Given the description of an element on the screen output the (x, y) to click on. 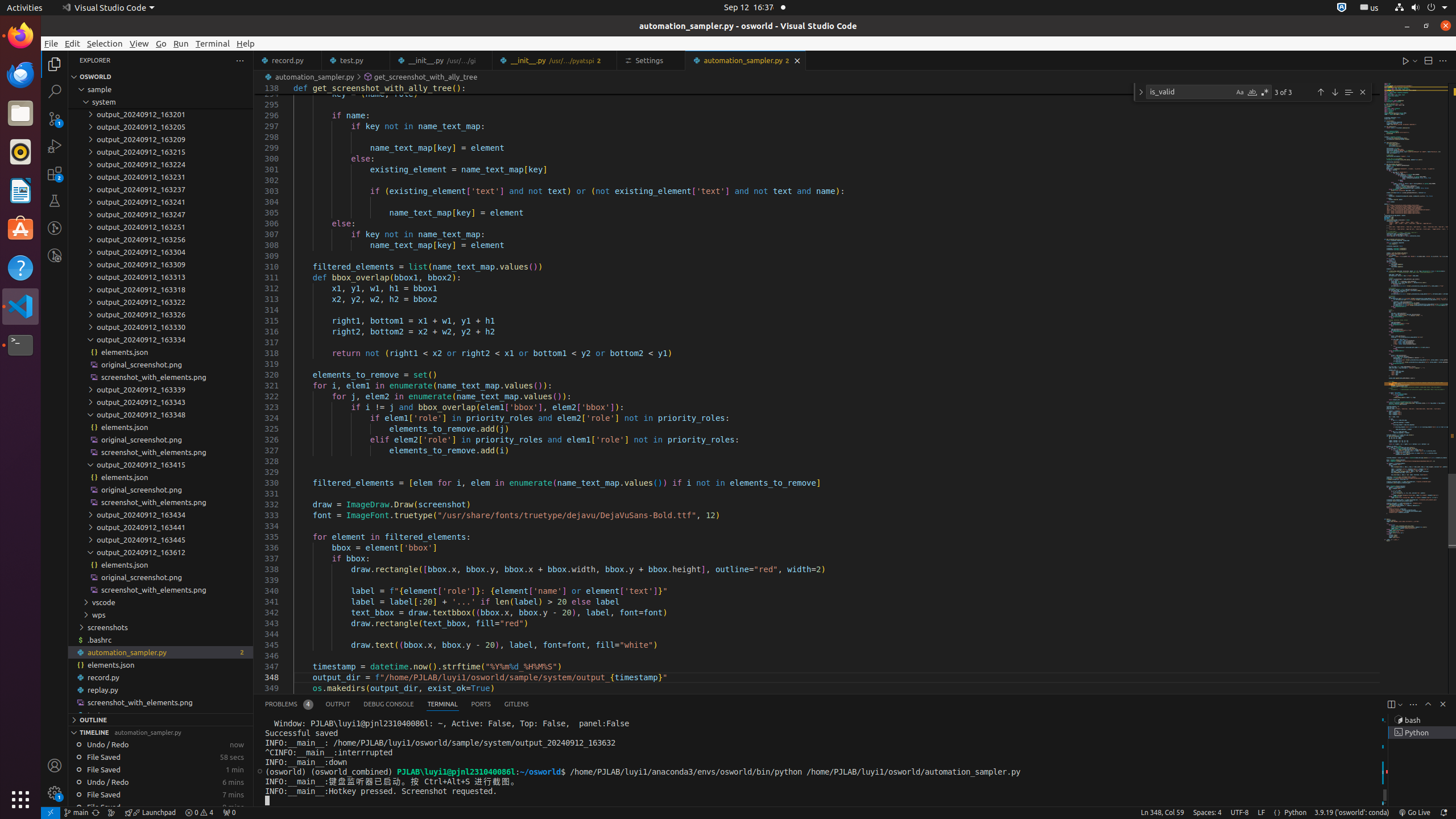
output_20240912_163304 Element type: tree-item (160, 251)
output_20240912_163309 Element type: tree-item (160, 264)
GitLens Element type: page-tab (516, 704)
Output (Ctrl+K Ctrl+H) Element type: page-tab (337, 704)
output_20240912_163251 Element type: tree-item (160, 226)
